Given the description of an element on the screen output the (x, y) to click on. 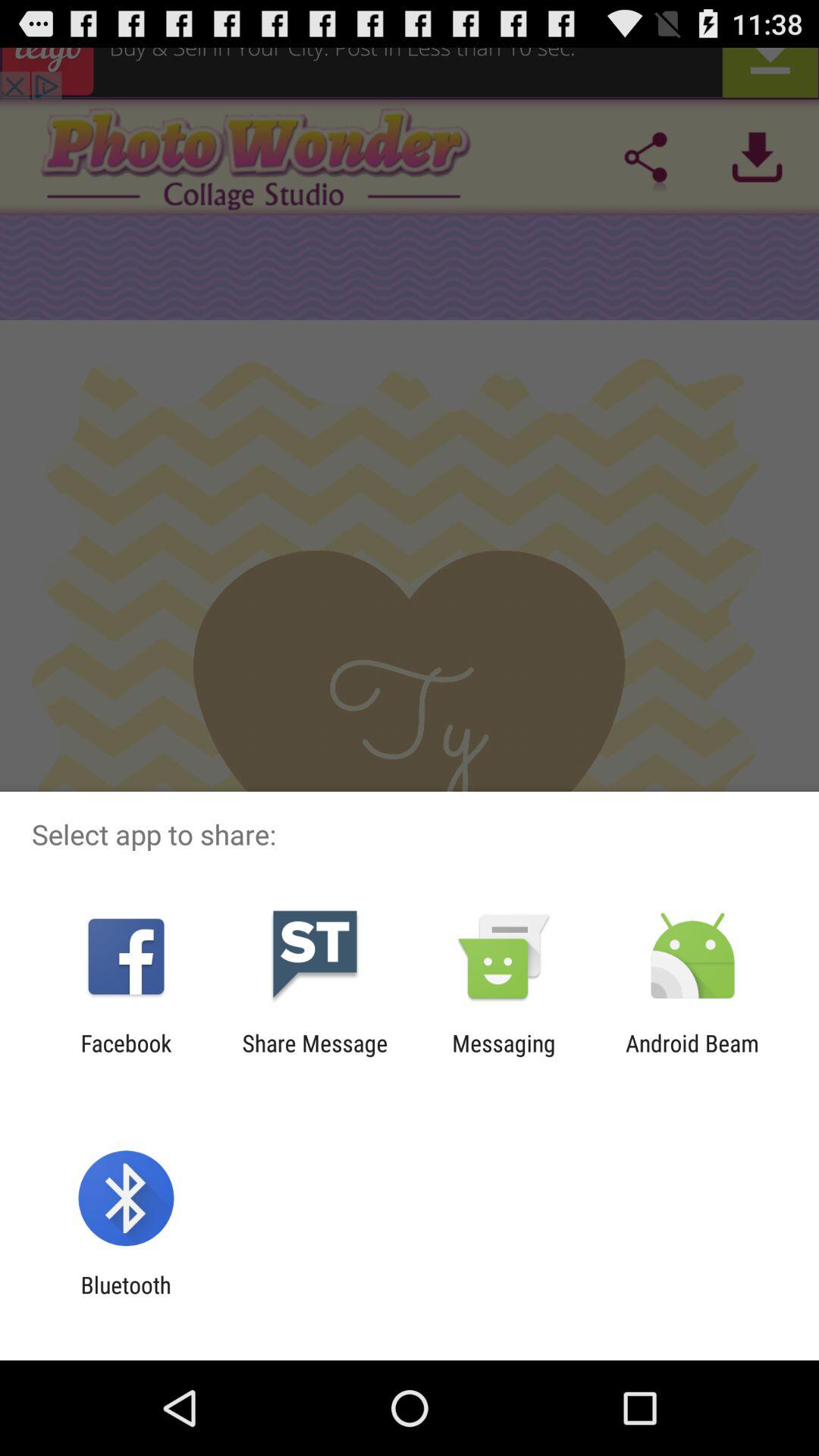
choose app next to the facebook item (314, 1056)
